Given the description of an element on the screen output the (x, y) to click on. 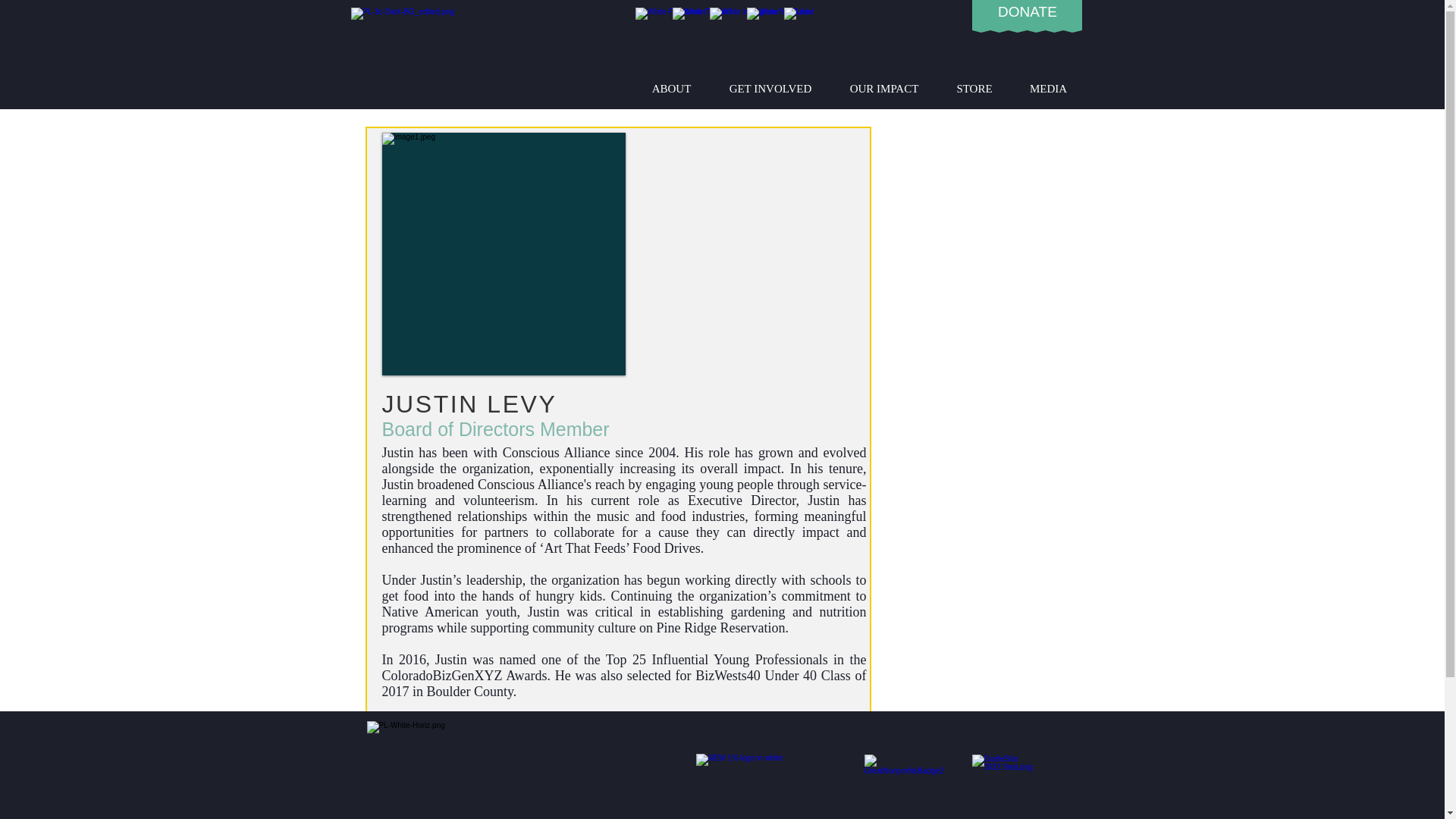
GET INVOLVED (769, 88)
ABOUT (670, 88)
MEDIA (1048, 88)
STORE (973, 88)
DONATE (1027, 11)
OUR IMPACT (884, 88)
